Given the description of an element on the screen output the (x, y) to click on. 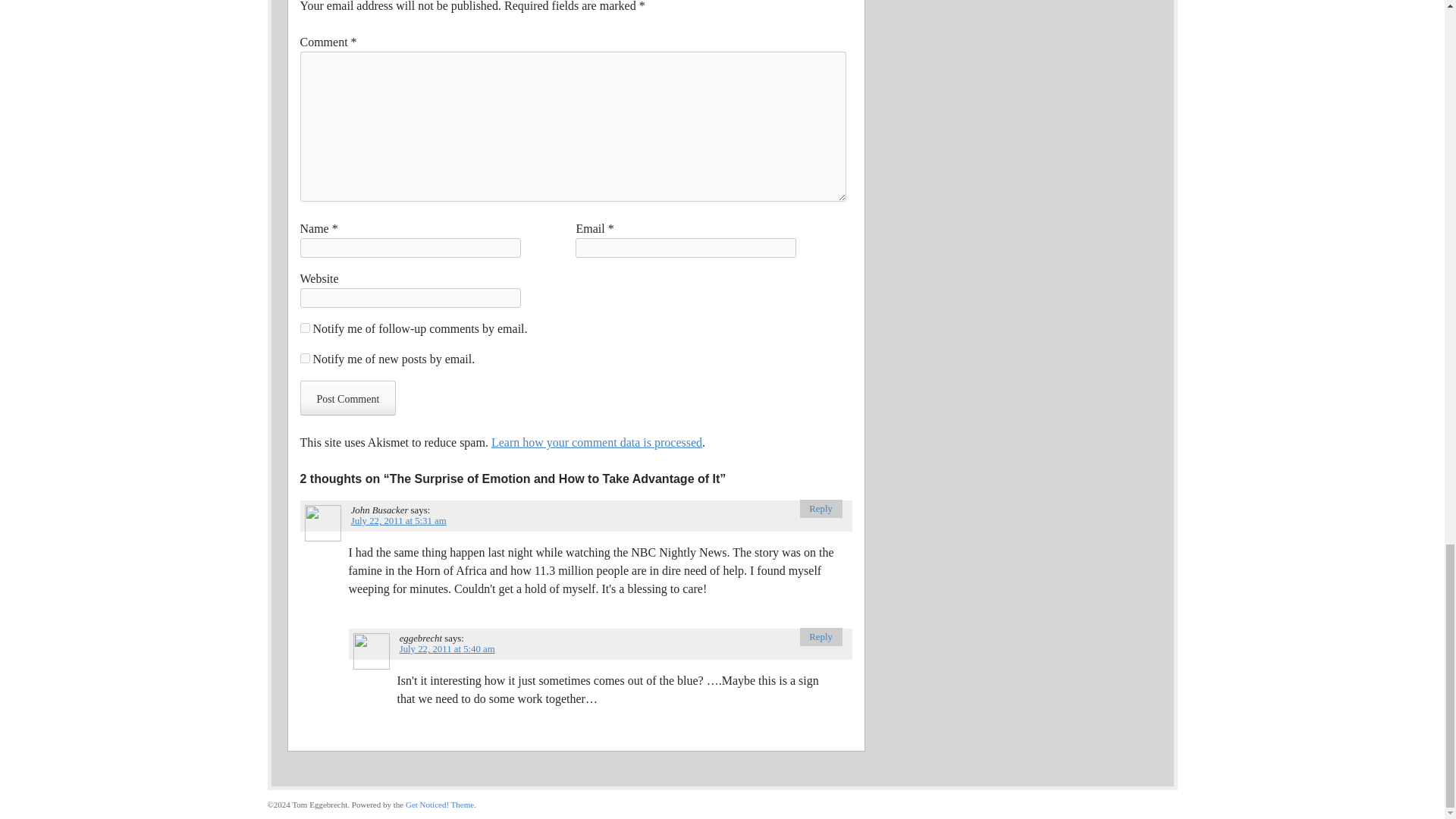
subscribe (304, 357)
Learn how your comment data is processed (596, 441)
July 22, 2011 at 5:31 am (398, 520)
subscribe (304, 327)
Post Comment (347, 397)
Post Comment (347, 397)
